Given the description of an element on the screen output the (x, y) to click on. 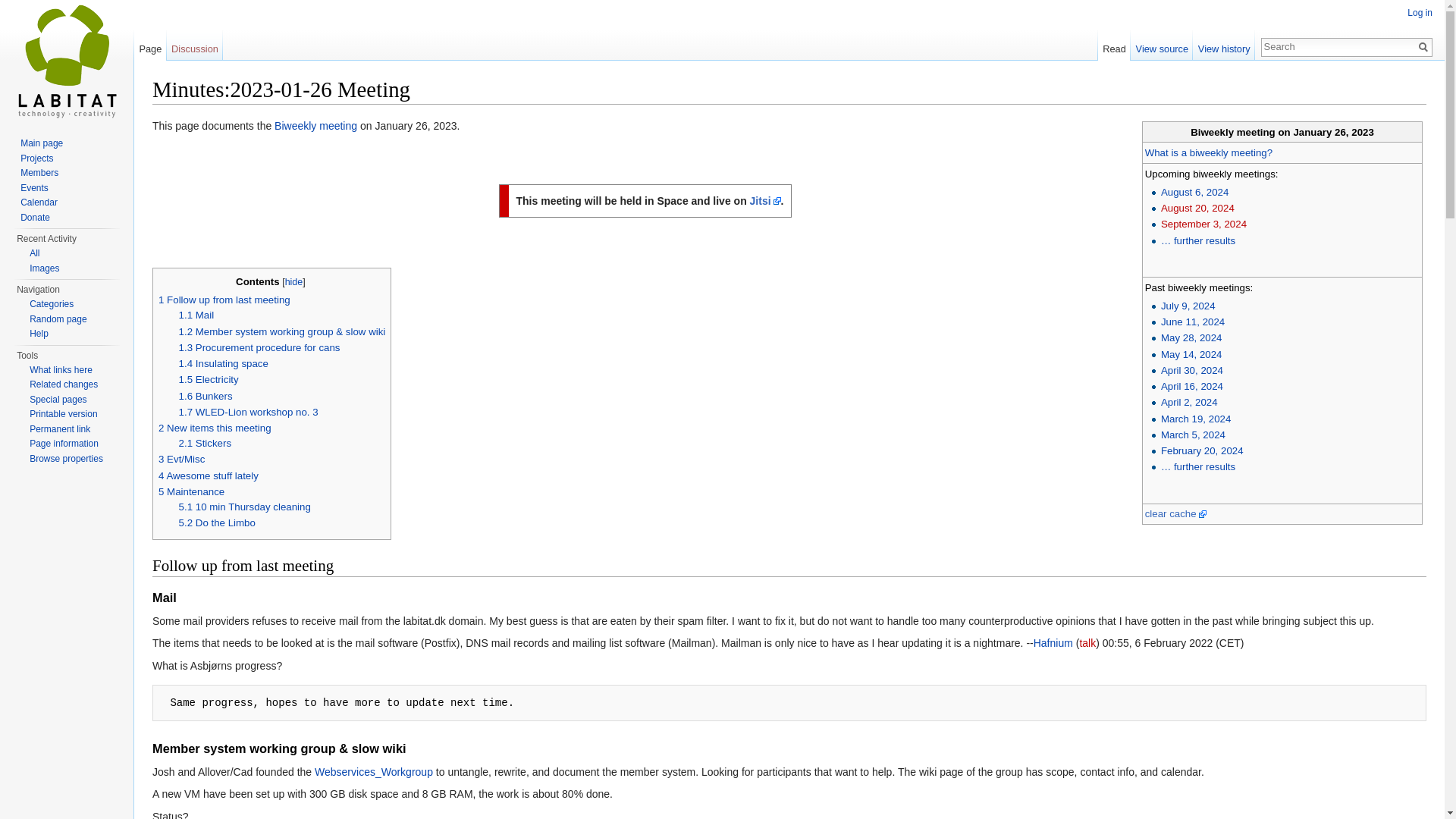
Go (1423, 46)
May 28, 2024 (1191, 337)
5 Maintenance (191, 491)
hide (293, 281)
1.6 Bunkers (205, 396)
July 9, 2024 (1187, 306)
Minutes:2024-05-14 Meeting (1191, 354)
What is a biweekly meeting? (1208, 152)
4 Awesome stuff lately (208, 475)
Biweekly meeting (1208, 152)
